Given the description of an element on the screen output the (x, y) to click on. 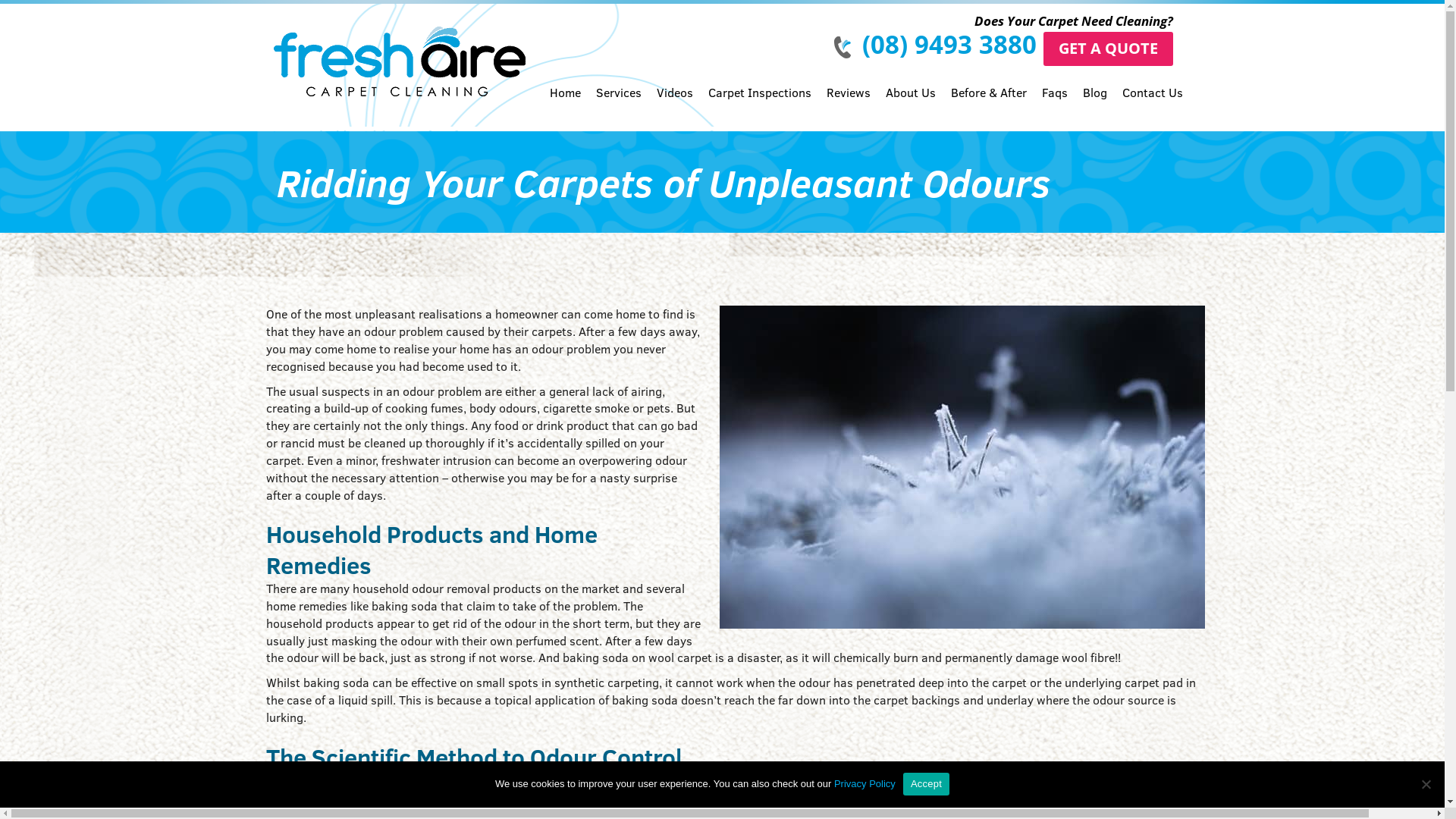
GET A QUOTE Element type: text (1108, 48)
Privacy Policy Element type: text (864, 783)
About Us Element type: text (910, 105)
Carpet Inspections Element type: text (759, 105)
Fresh Aire Carpet Cleaning Element type: hover (389, 48)
Reviews Element type: text (848, 105)
Contact Us Element type: text (1148, 105)
Services Element type: text (618, 105)
Before & After Element type: text (988, 105)
Home Element type: text (568, 105)
No Element type: hover (1425, 783)
Faqs Element type: text (1054, 105)
Videos Element type: text (674, 105)
(08) 9493 3880 Element type: text (948, 44)
Blog Element type: text (1094, 105)
Accept Element type: text (926, 782)
